Given the description of an element on the screen output the (x, y) to click on. 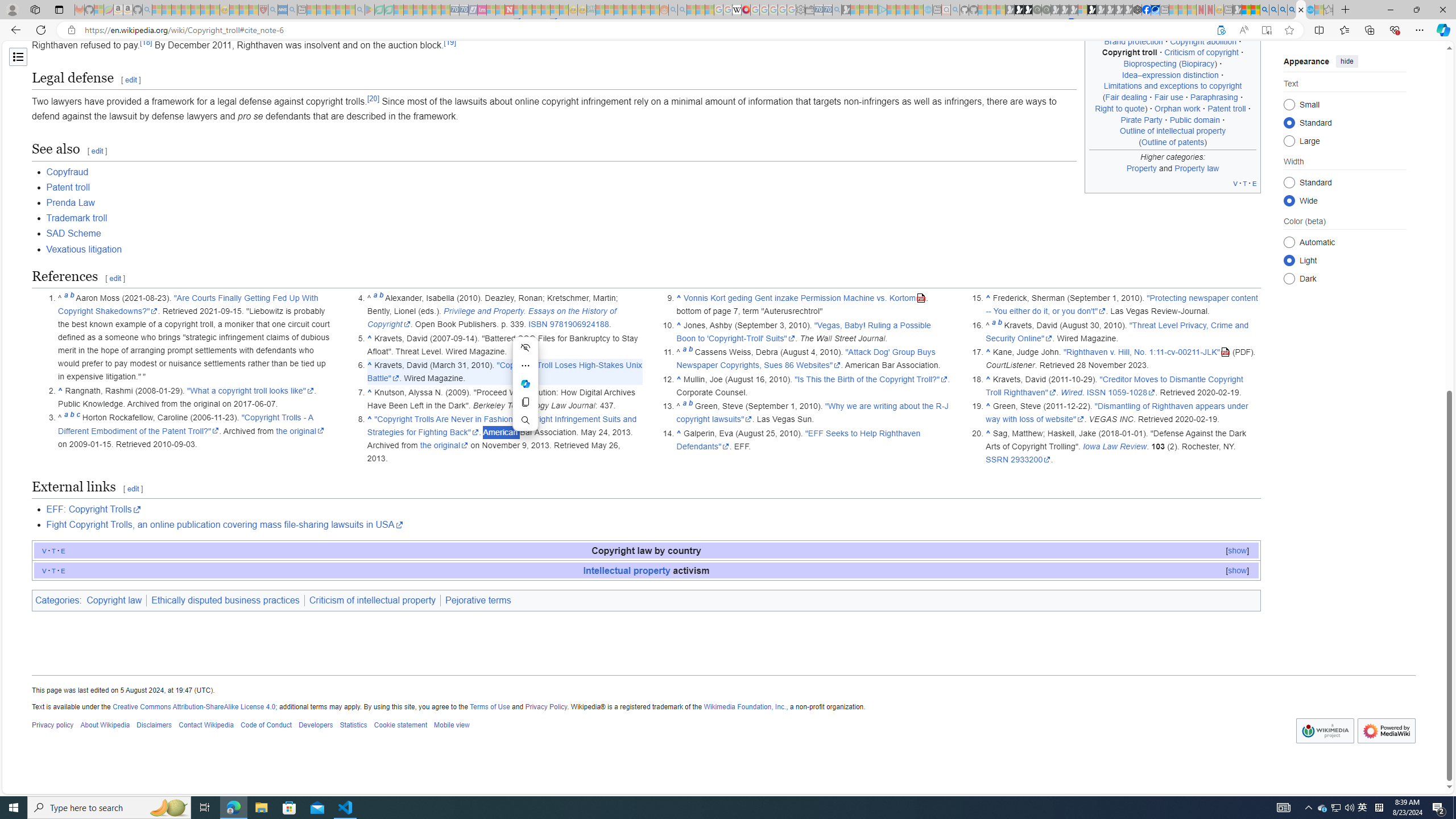
e (63, 569)
the original (443, 445)
(Biopiracy) (1197, 63)
Ethically disputed business practices (225, 600)
Dark (1289, 278)
EFF: Copyright Trolls (93, 509)
Developers (315, 725)
Limitations and exceptions to copyright (1172, 85)
